Given the description of an element on the screen output the (x, y) to click on. 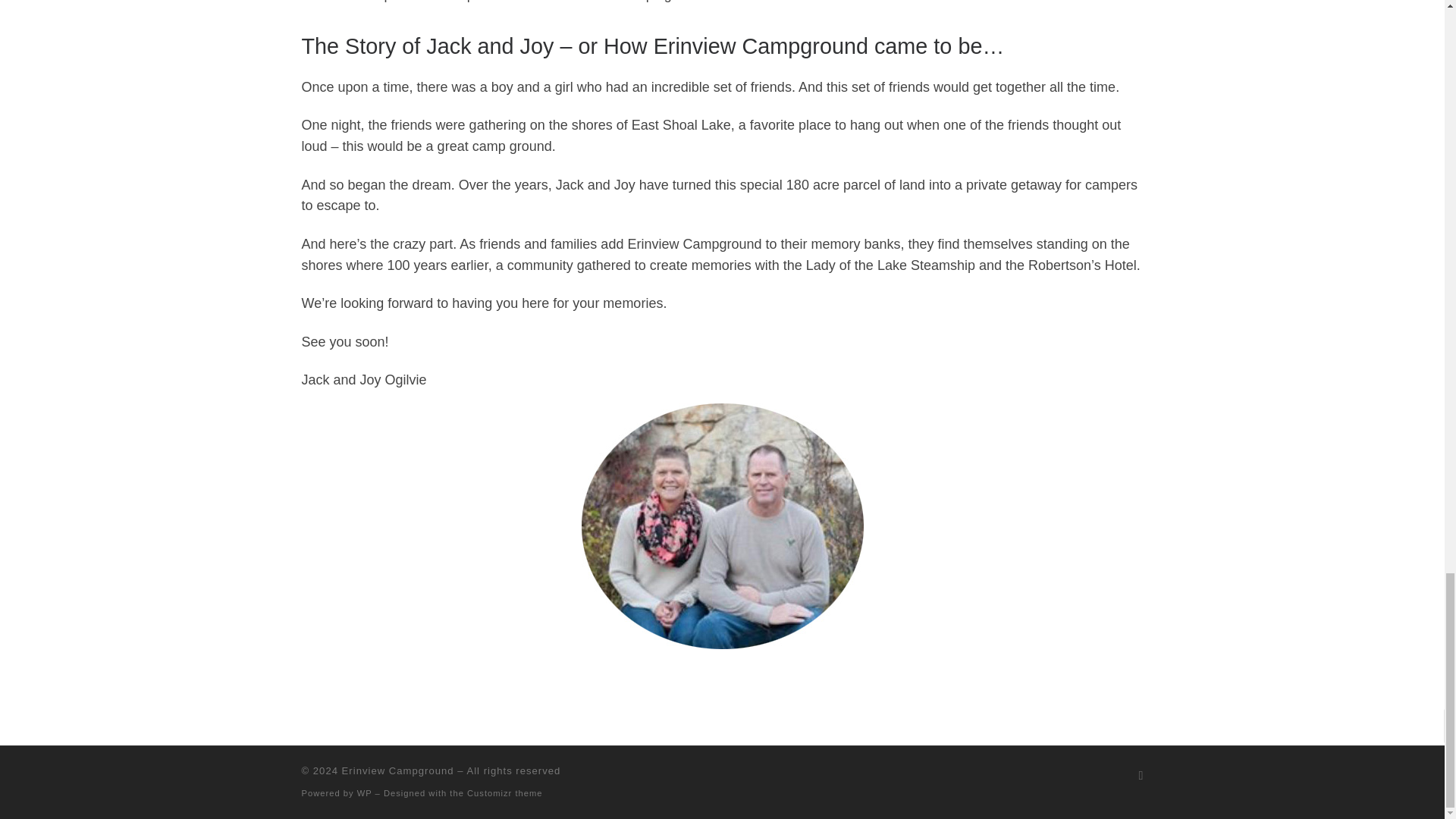
Customizr theme (505, 792)
WP (364, 792)
Erinview Campground (398, 770)
